Given the description of an element on the screen output the (x, y) to click on. 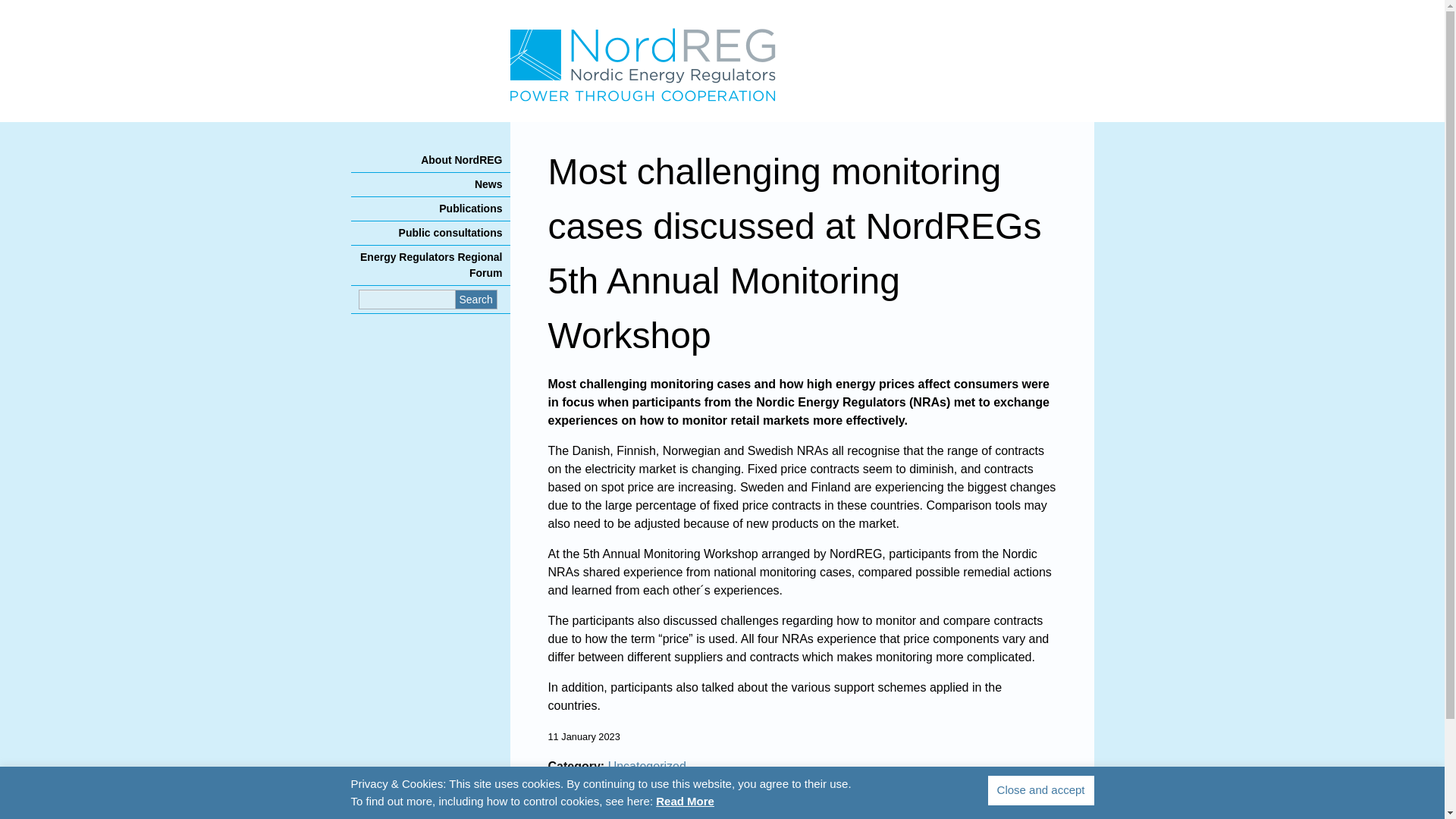
Uncategorized (646, 766)
Search (475, 299)
Public consultations (429, 232)
Read More (685, 801)
News (429, 184)
Energy Regulators Regional Forum (429, 265)
Search (475, 299)
Close and accept (1041, 790)
Finland has the highest share of active customers (673, 796)
About NordREG (429, 159)
Publications (429, 208)
